Given the description of an element on the screen output the (x, y) to click on. 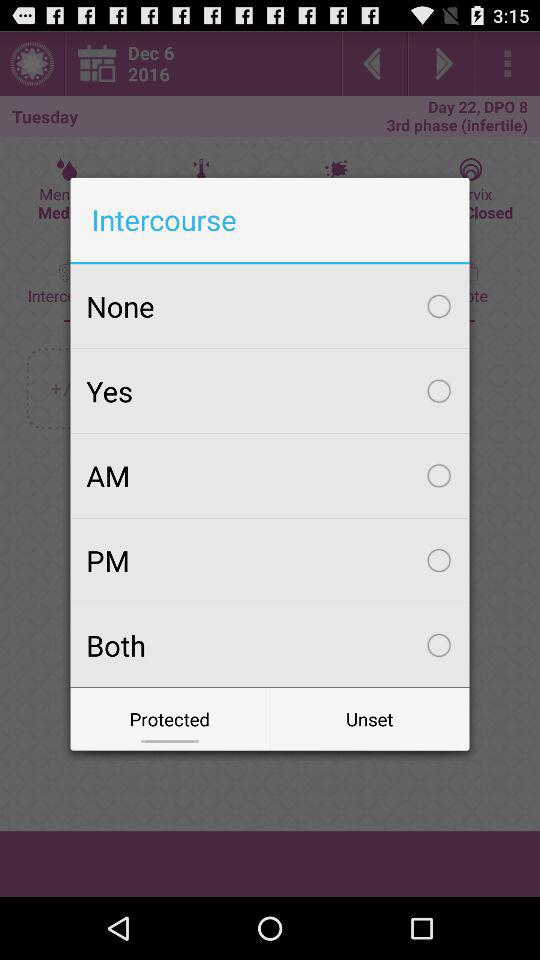
choose the icon above both icon (269, 560)
